Given the description of an element on the screen output the (x, y) to click on. 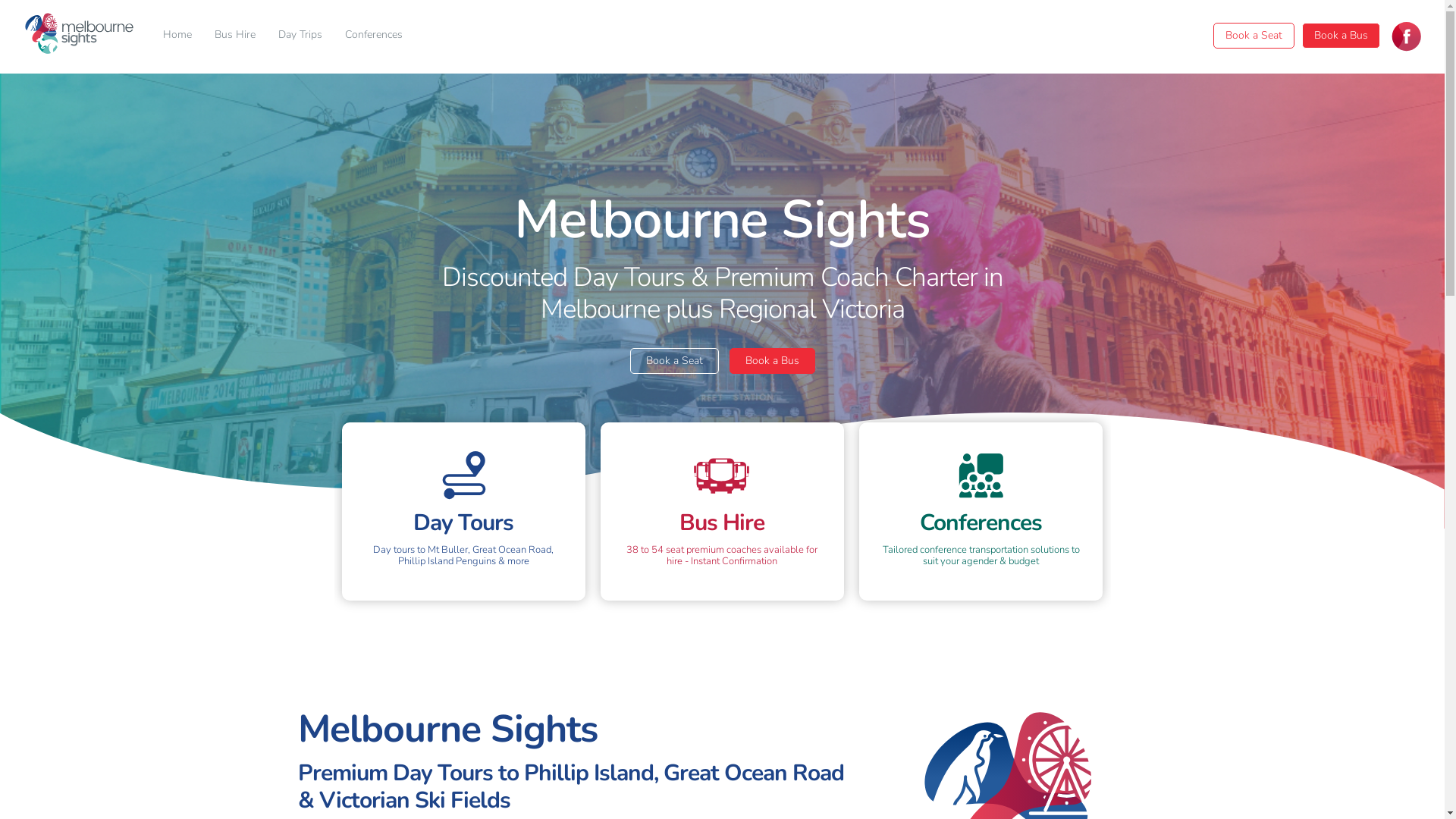
Home Element type: text (177, 34)
Conferences Element type: text (373, 34)
Coach Charter in Melbourne Element type: hover (1406, 41)
Book a Seat Element type: text (673, 360)
Bus Hire Element type: text (234, 34)
Book a Seat Element type: text (1253, 35)
Book a Bus Element type: text (772, 360)
Book a Bus Element type: text (1341, 35)
Day Trips Element type: text (299, 34)
